Given the description of an element on the screen output the (x, y) to click on. 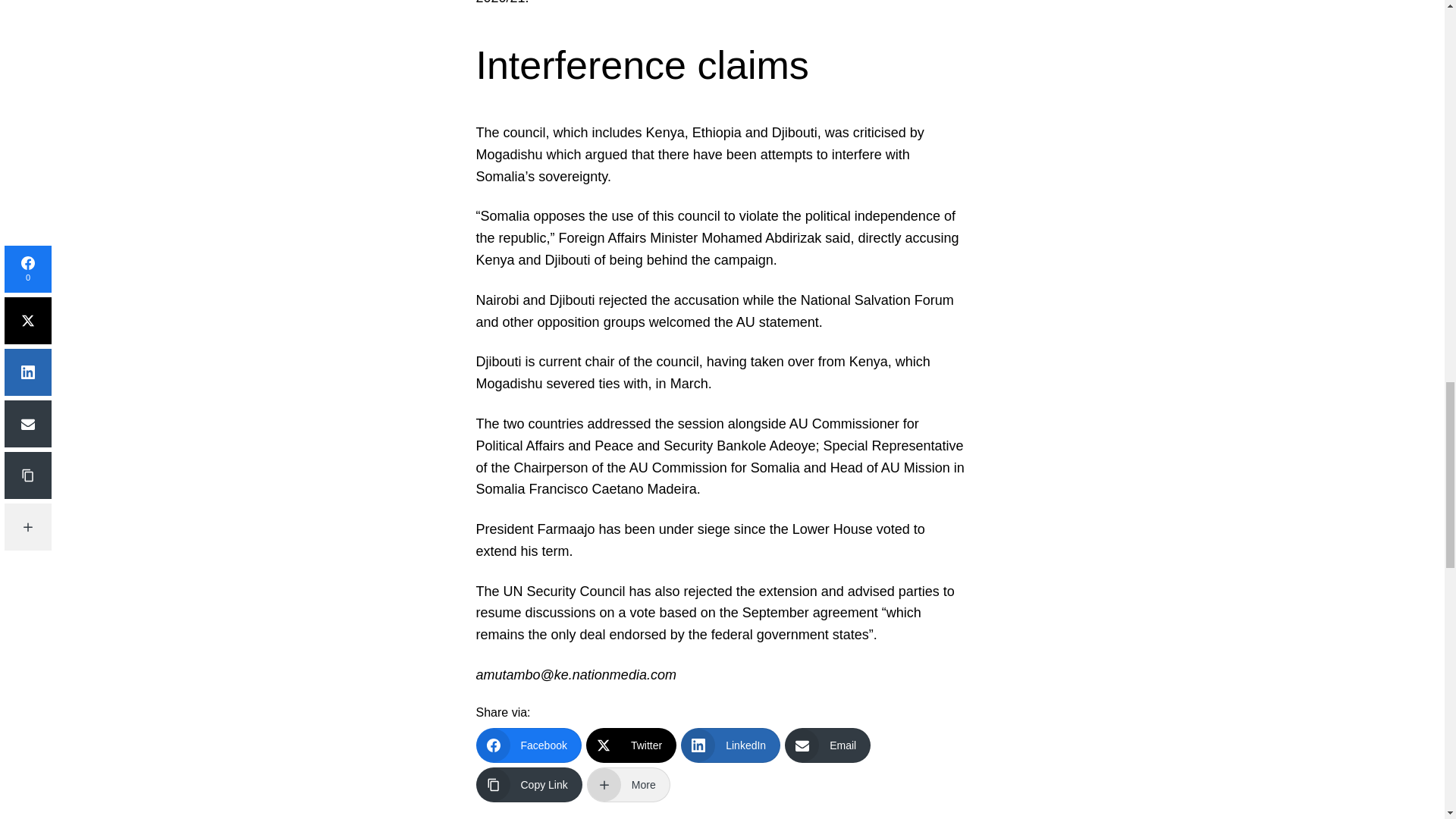
Twitter (631, 745)
Facebook (528, 745)
Copy Link (529, 784)
Email (827, 745)
LinkedIn (730, 745)
More (627, 784)
